Given the description of an element on the screen output the (x, y) to click on. 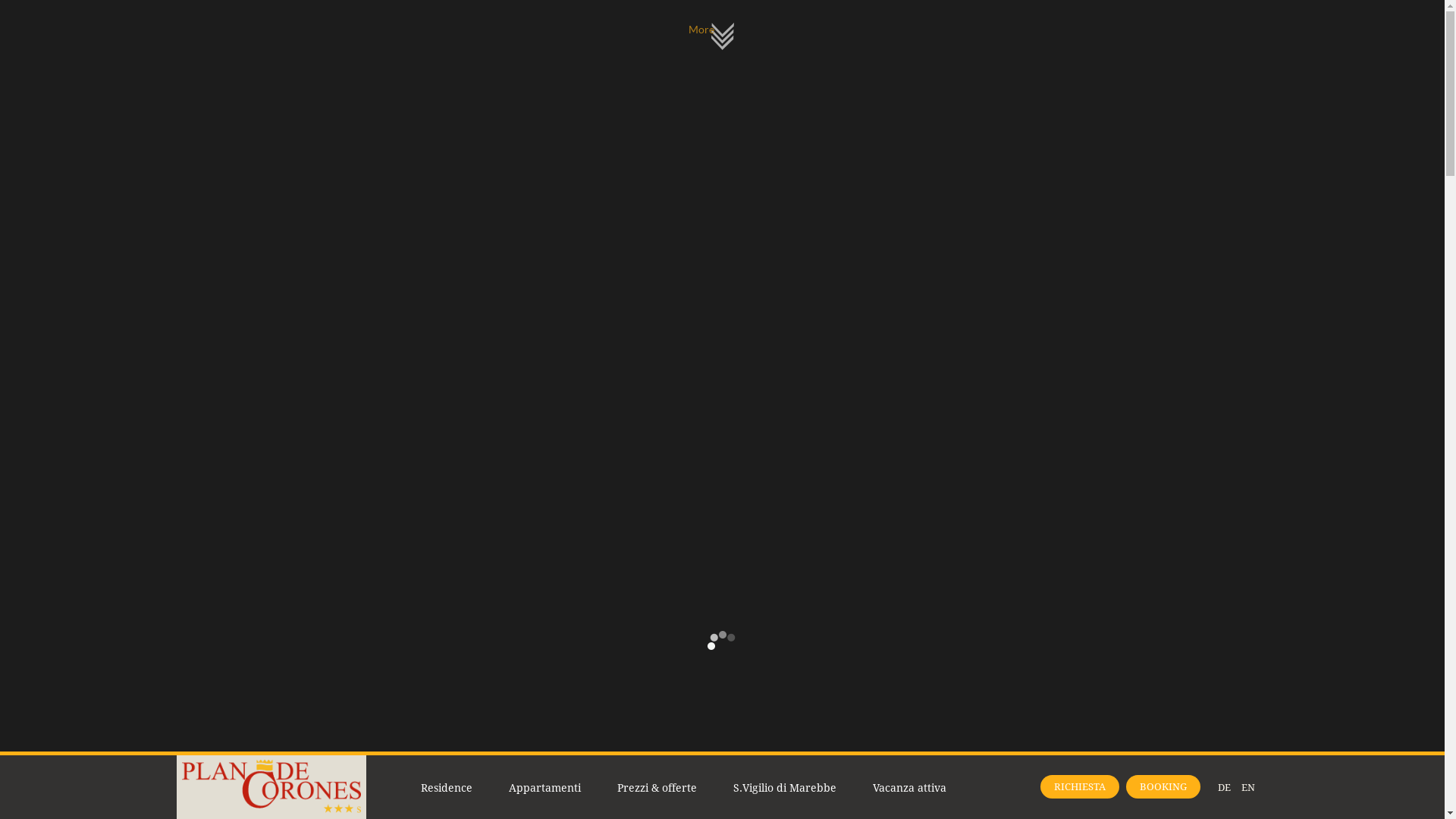
Homepage Element type: hover (271, 809)
Appartamenti Element type: text (544, 787)
Vacanza attiva Element type: text (908, 787)
Residence Element type: text (445, 787)
Prezzi & offerte Element type: text (656, 787)
RICHIESTA Element type: text (1079, 786)
More Element type: text (722, 36)
EN Element type: text (1247, 787)
S.Vigilio di Marebbe Element type: text (783, 787)
BOOKING Element type: text (1162, 786)
DE Element type: text (1223, 787)
